Given the description of an element on the screen output the (x, y) to click on. 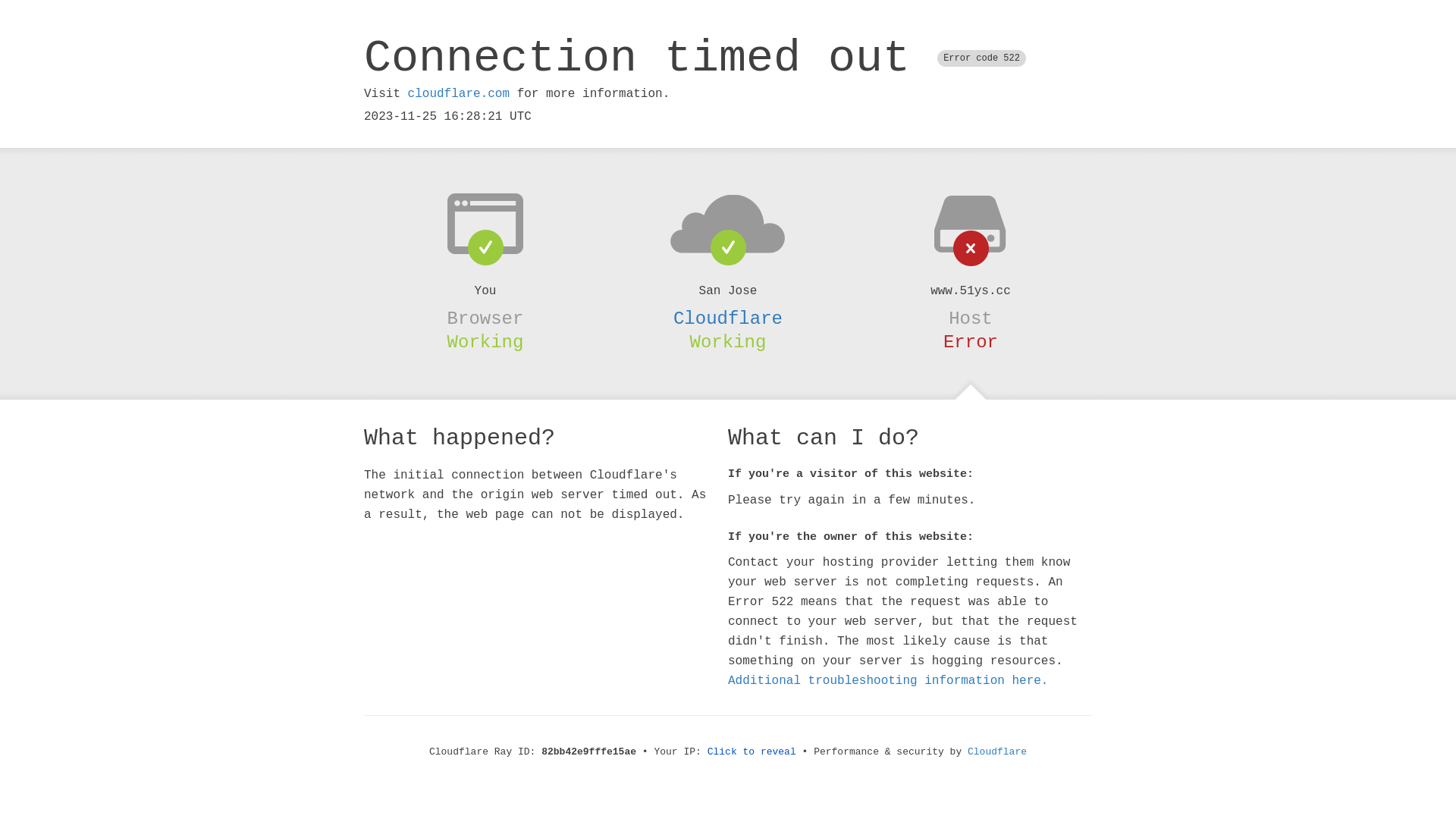
Additional troubleshooting information here. Element type: text (888, 680)
cloudflare.com Element type: text (458, 93)
Cloudflare Element type: text (727, 318)
Cloudflare Element type: text (996, 751)
Click to reveal Element type: text (751, 751)
